Given the description of an element on the screen output the (x, y) to click on. 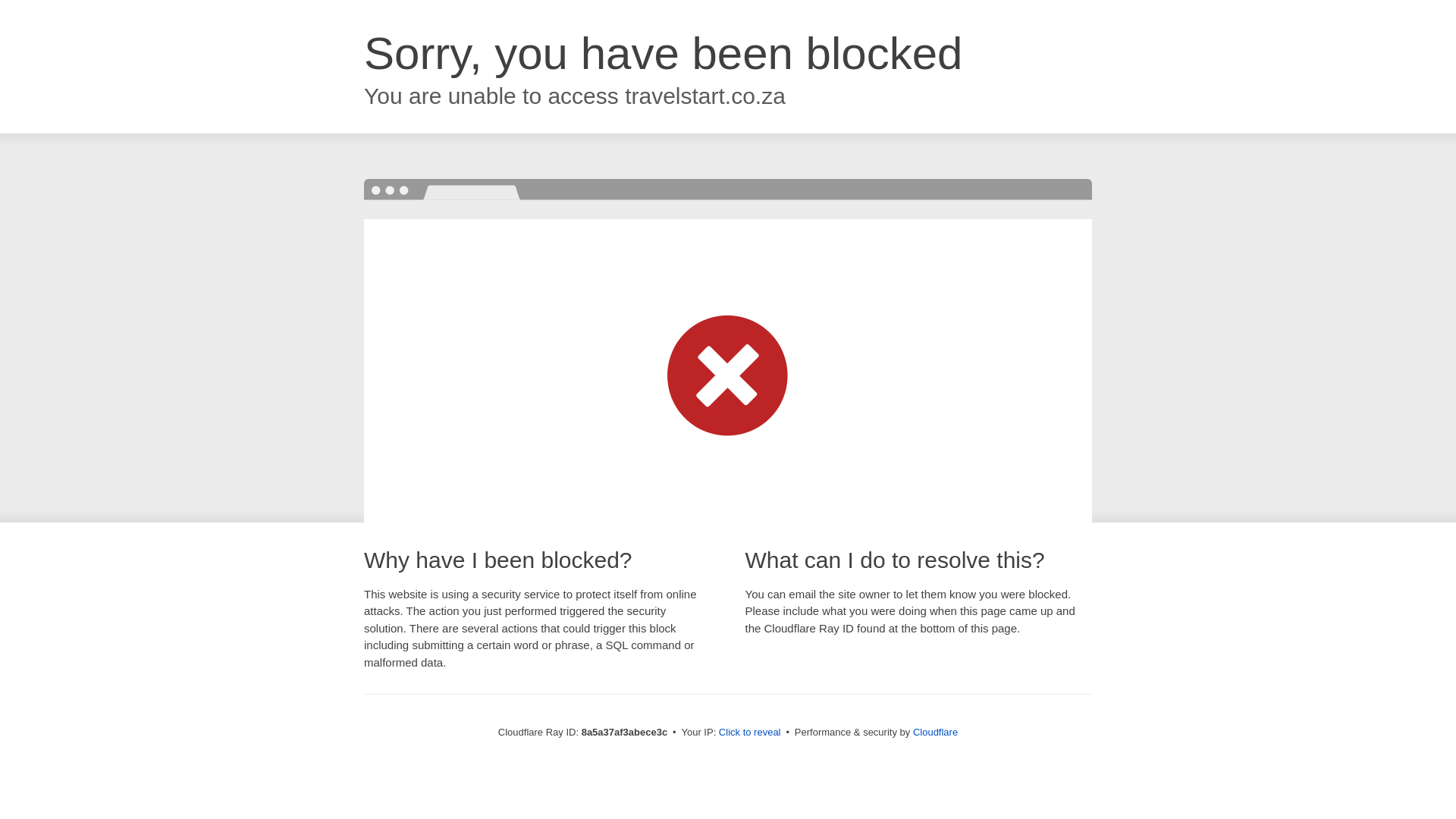
Click to reveal (749, 732)
Cloudflare (935, 731)
